Given the description of an element on the screen output the (x, y) to click on. 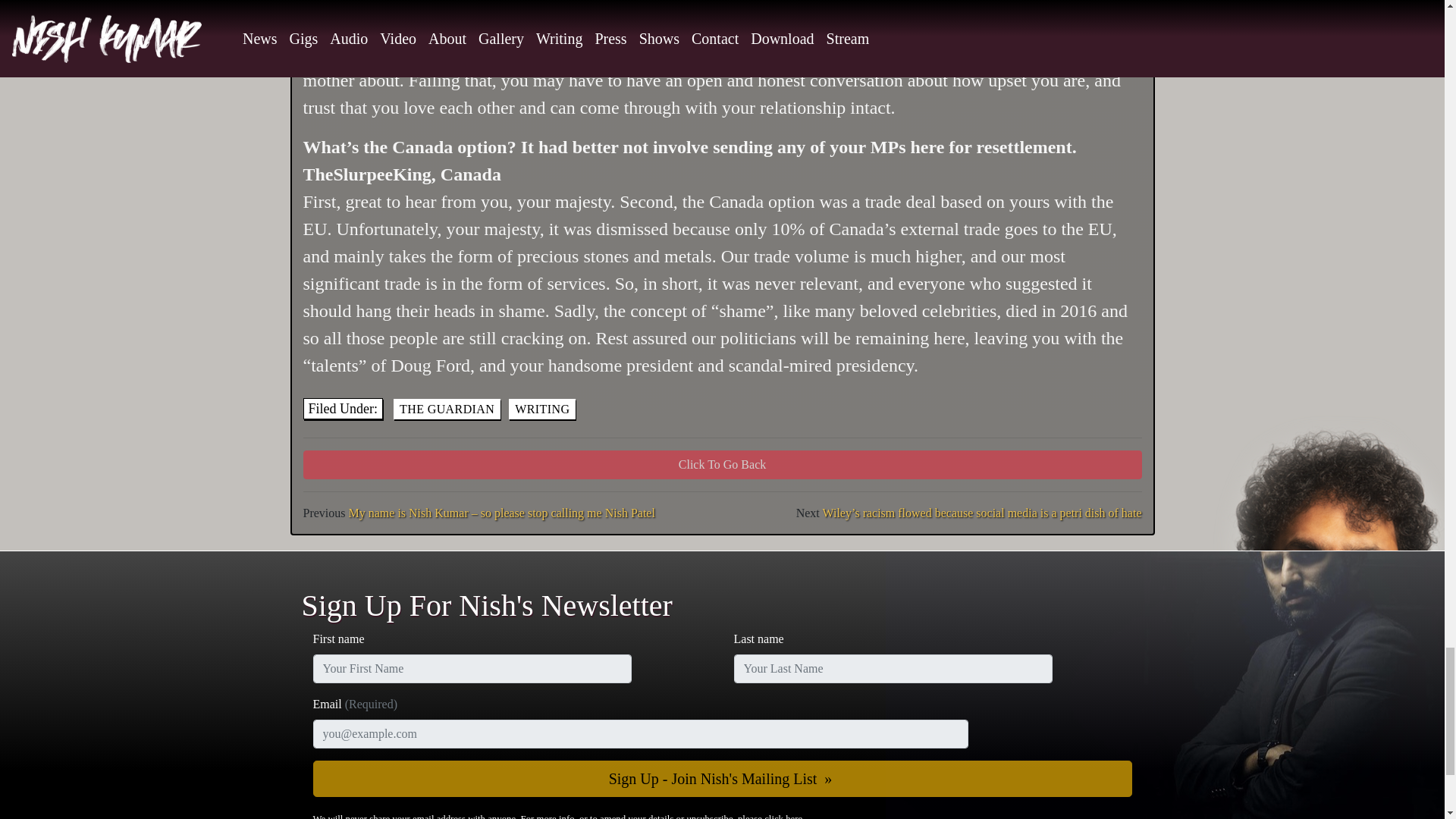
Click To Go Back (721, 464)
THE GUARDIAN (446, 408)
WRITING (541, 408)
click here (783, 816)
